Given the description of an element on the screen output the (x, y) to click on. 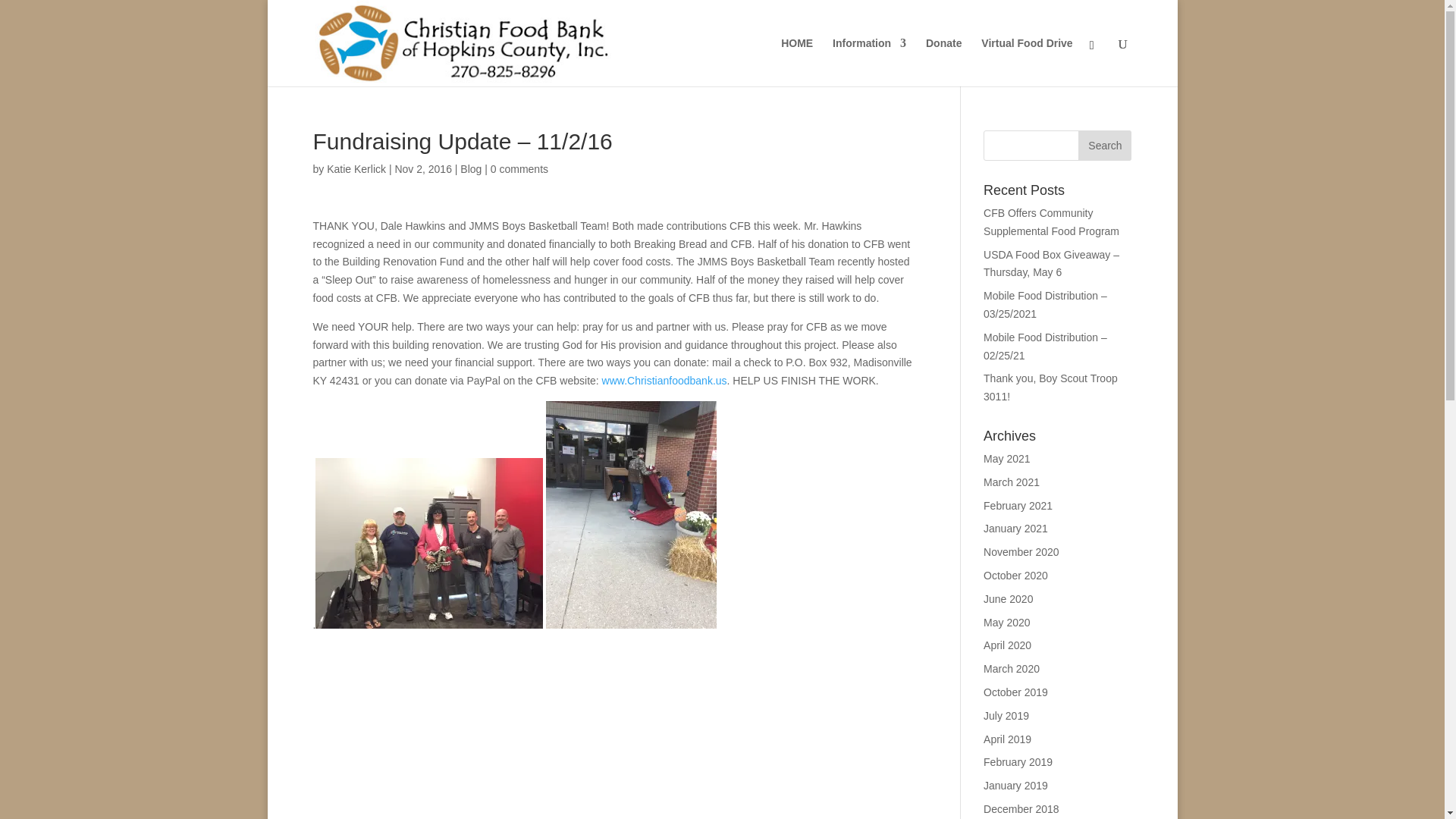
January 2021 (1016, 528)
November 2020 (1021, 551)
May 2021 (1006, 458)
Search (1104, 145)
April 2020 (1007, 645)
www.Christianfoodbank.us (664, 380)
October 2019 (1016, 692)
Blog (470, 168)
Posts by Katie Kerlick (355, 168)
June 2020 (1008, 598)
CFB Offers Community Supplemental Food Program (1051, 222)
Virtual Food Drive (1026, 61)
0 comments (519, 168)
May 2020 (1006, 622)
Katie Kerlick (355, 168)
